Given the description of an element on the screen output the (x, y) to click on. 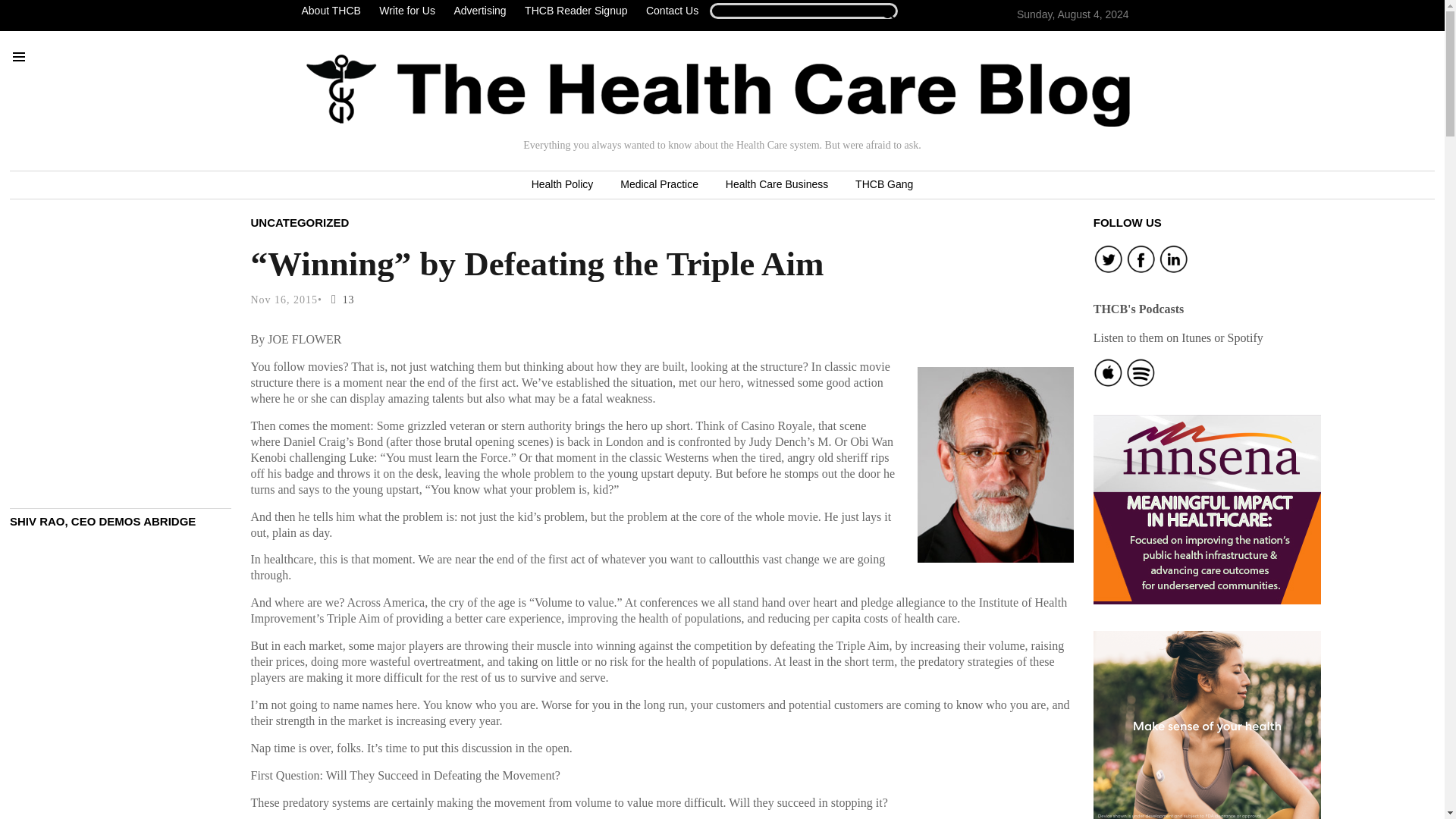
Home (718, 90)
Health Policy (562, 184)
Medical Practice (659, 184)
THCB Reader Signup (575, 10)
Health Care Business (776, 184)
13 (338, 299)
UNCATEGORIZED (299, 221)
Contact Us (672, 10)
Advertising (479, 10)
About THCB (334, 10)
THCB Gang (883, 184)
Write for Us (406, 10)
